Given the description of an element on the screen output the (x, y) to click on. 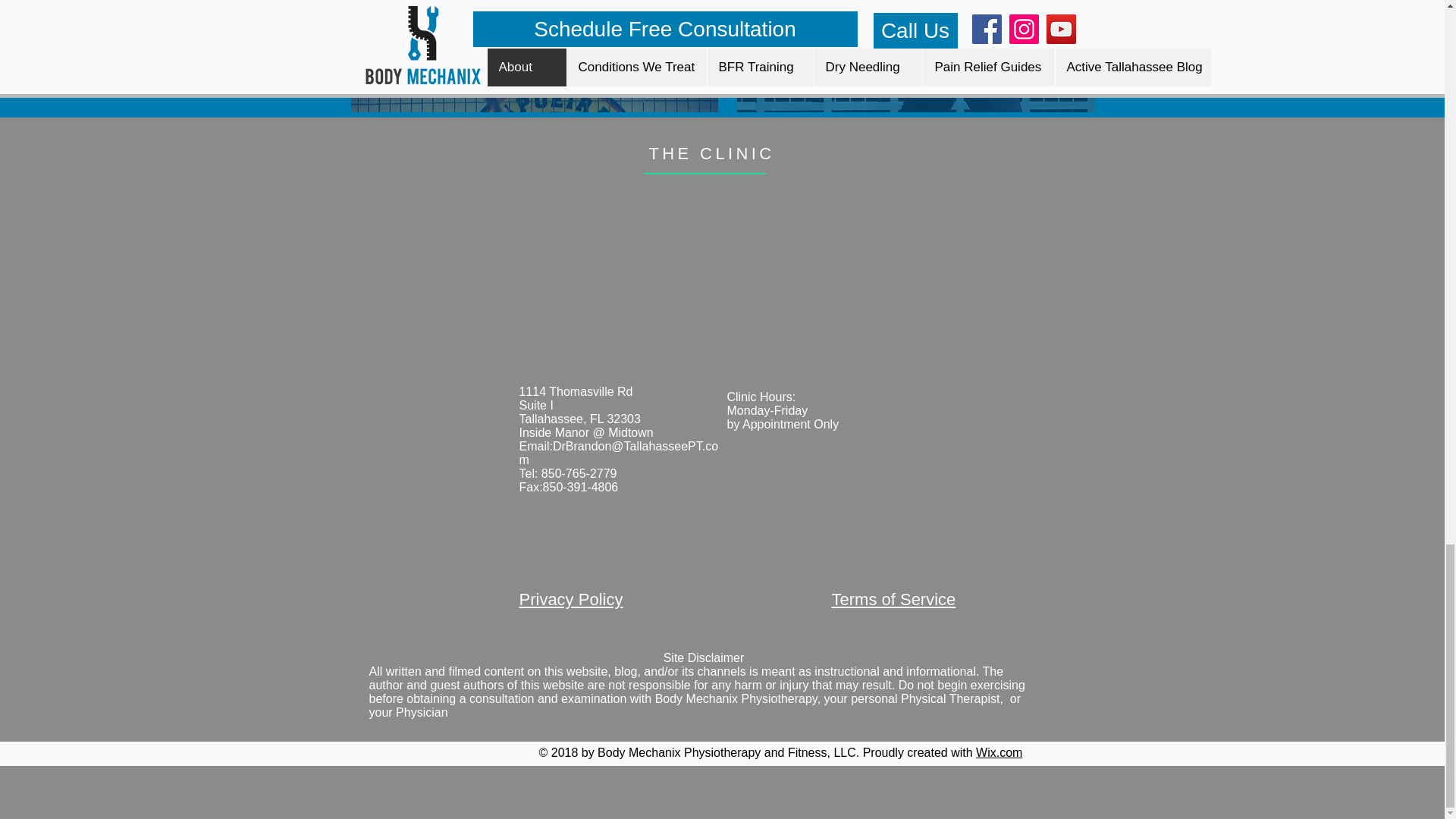
Privacy Policy (570, 599)
Terms of Service (893, 599)
Wix.com (998, 752)
